Given the description of an element on the screen output the (x, y) to click on. 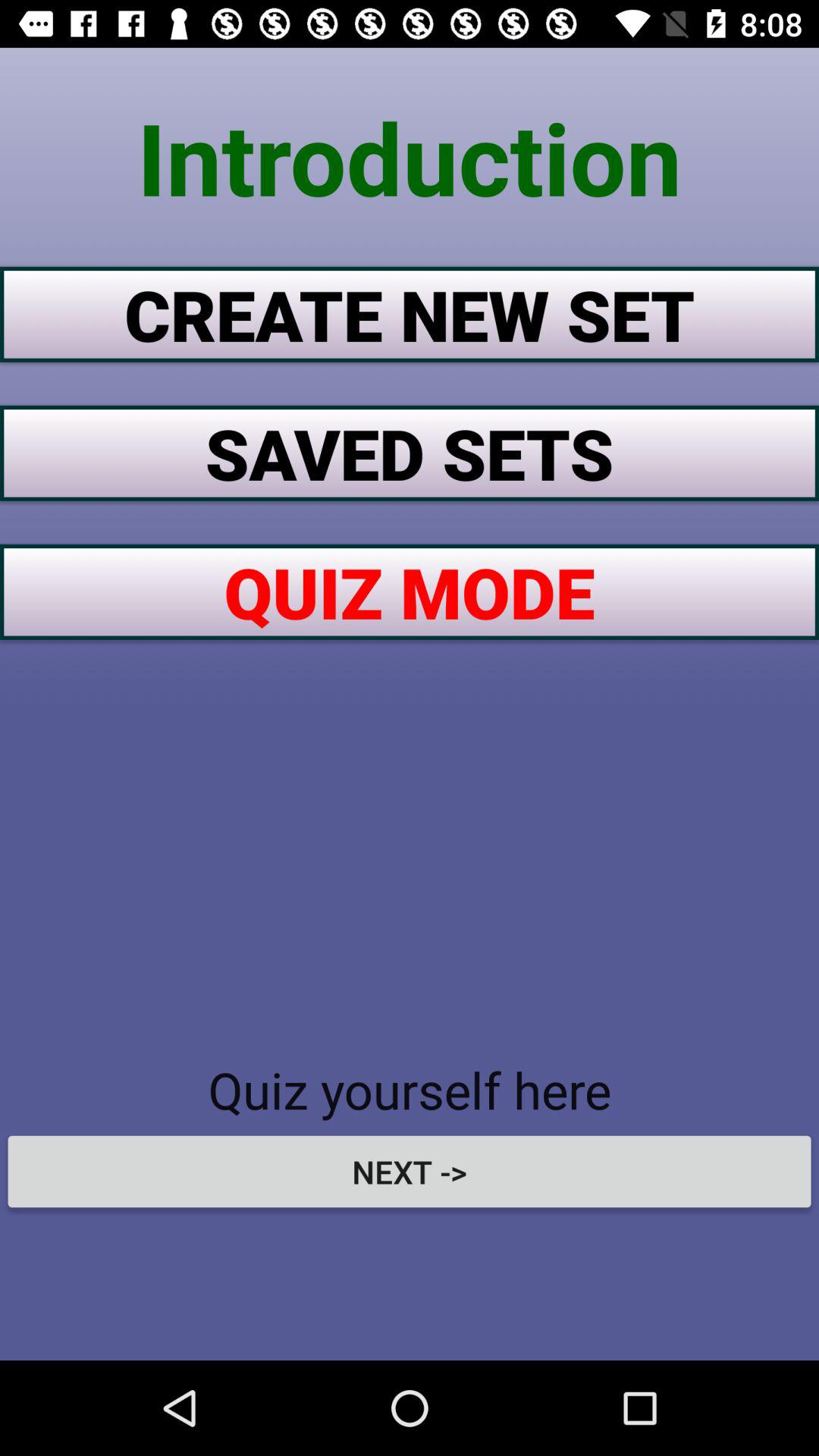
select quiz mode icon (409, 591)
